Given the description of an element on the screen output the (x, y) to click on. 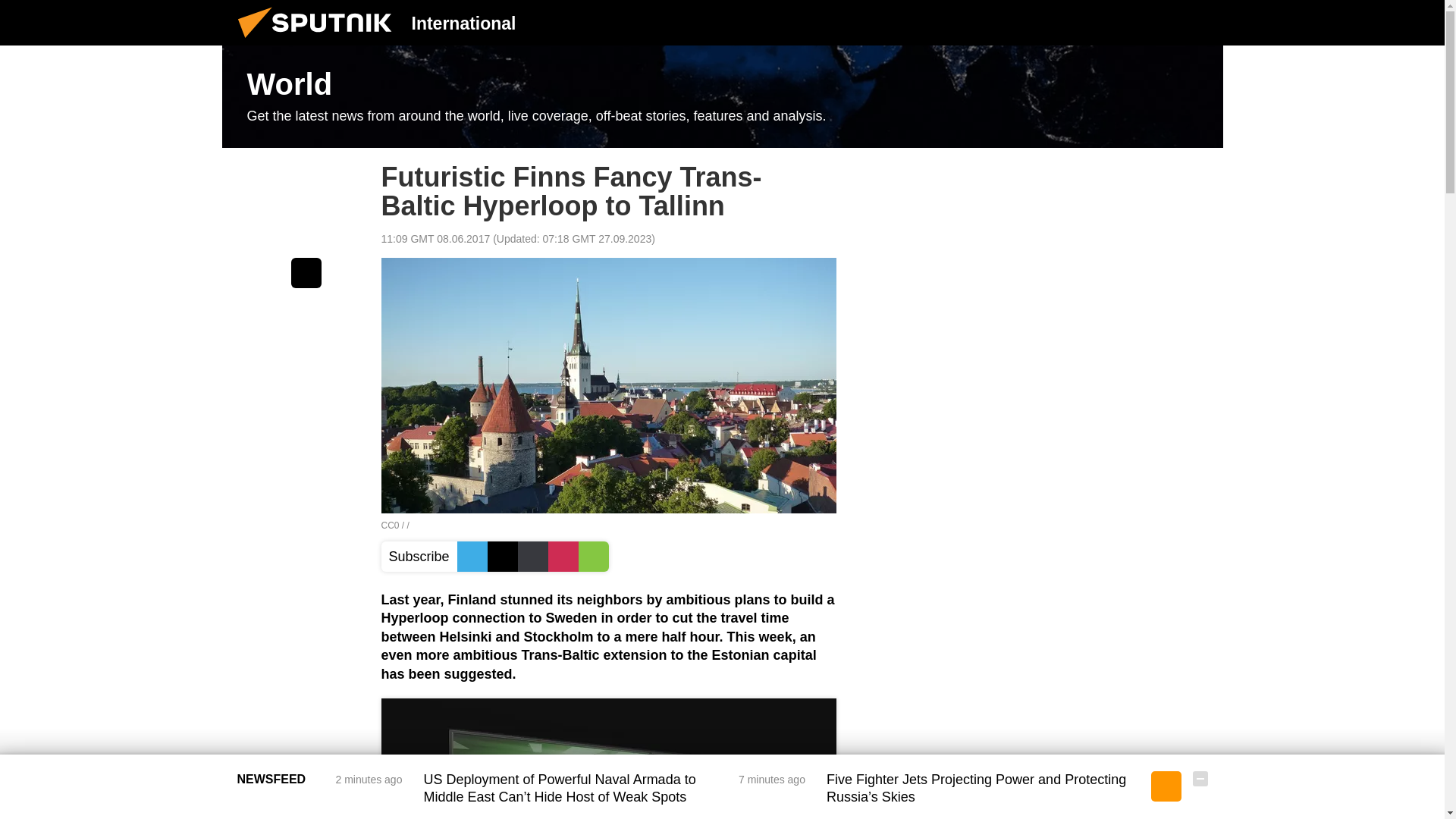
World (722, 96)
Sputnik International (319, 41)
Chats (1199, 22)
Authorization (1123, 22)
